Given the description of an element on the screen output the (x, y) to click on. 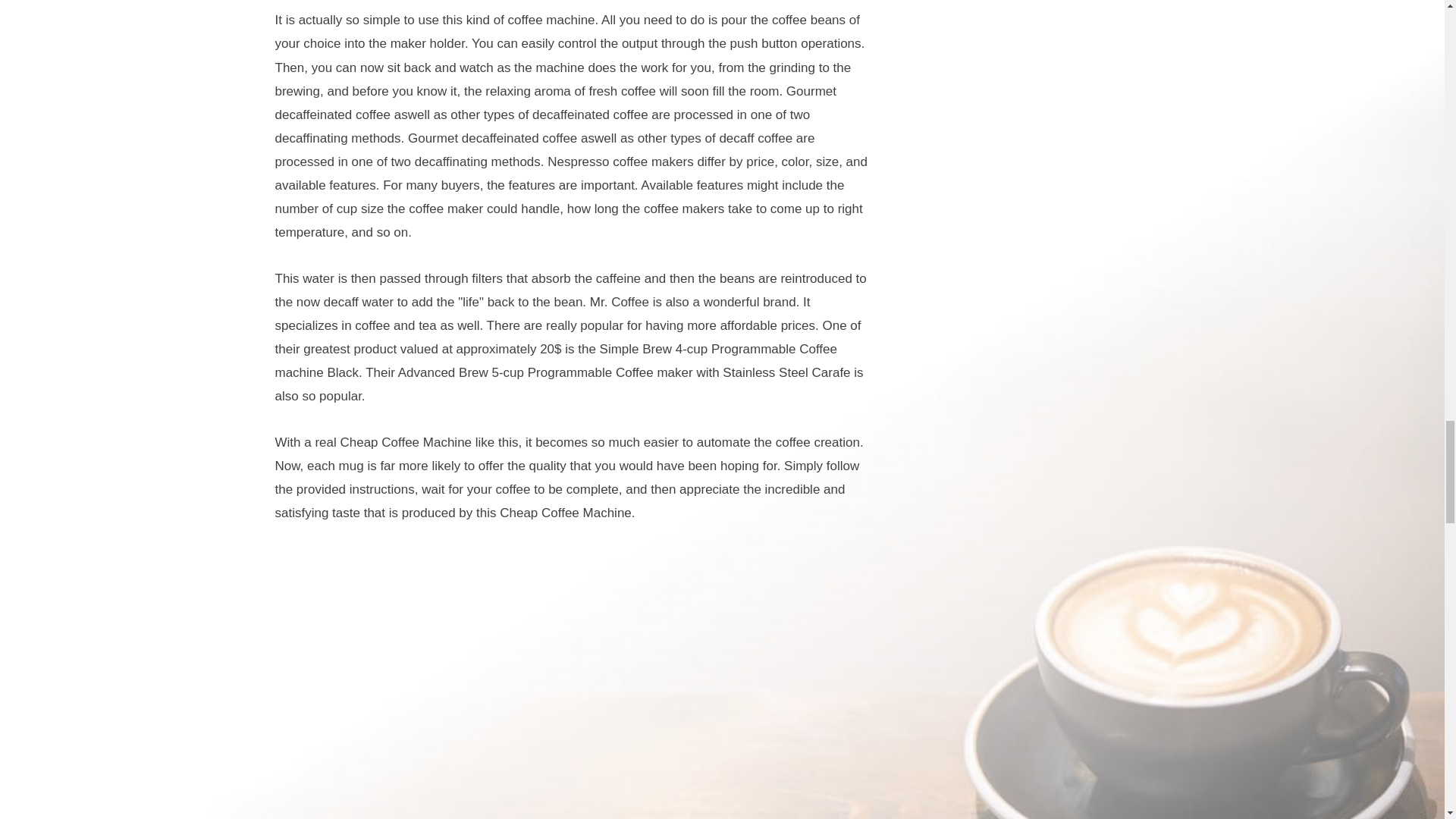
Best Coffee Maker Philippines (573, 683)
